Given the description of an element on the screen output the (x, y) to click on. 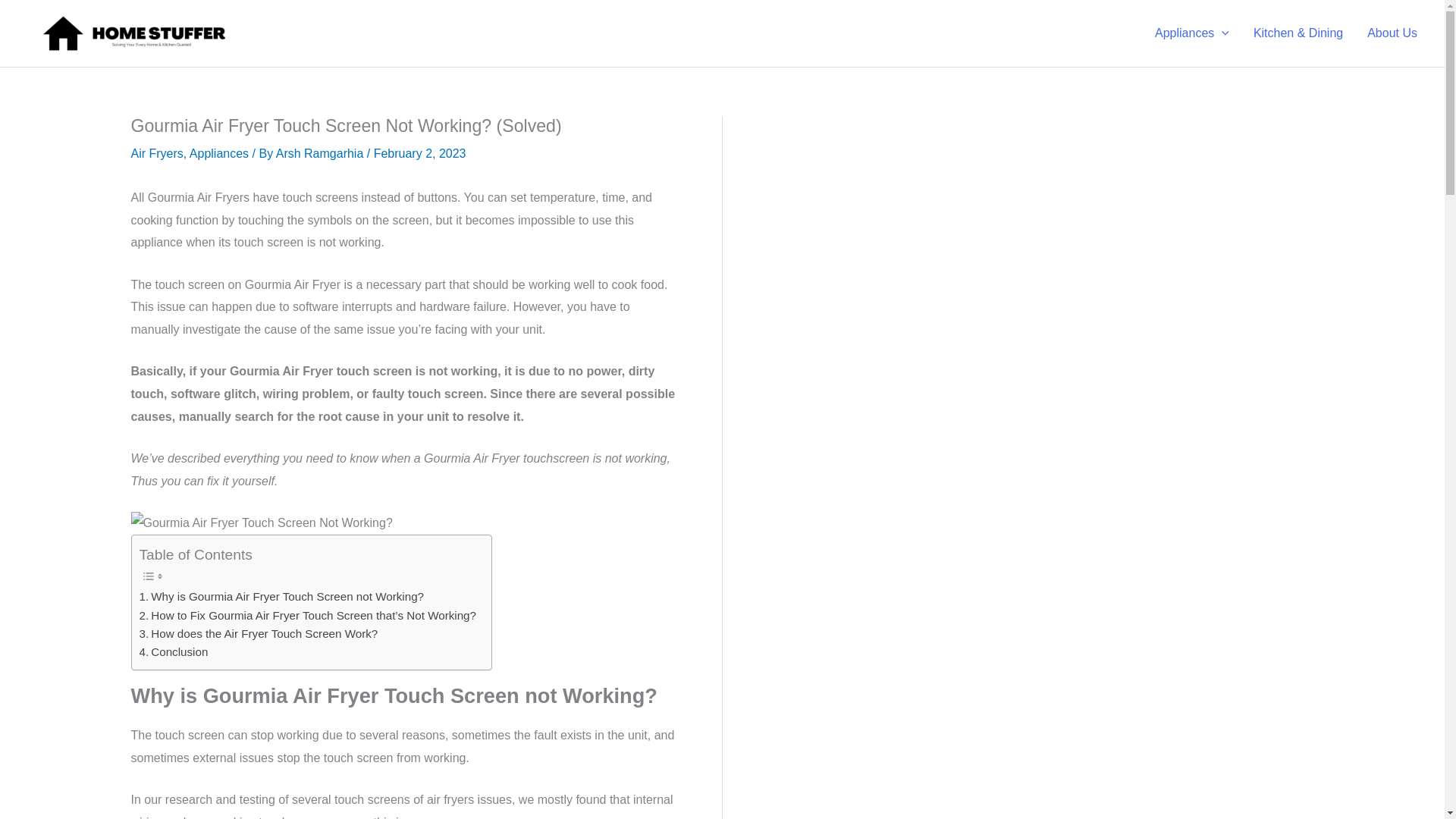
Conclusion (173, 651)
How does the Air Fryer Touch Screen Work? (258, 633)
About Us (1392, 32)
Air Fryers (157, 153)
Appliances (218, 153)
Arsh Ramgarhia (320, 153)
View all posts by Arsh Ramgarhia (320, 153)
Gourmia Air Fryer Touch Screen Not Working? (261, 522)
Why is Gourmia Air Fryer Touch Screen not Working? (282, 597)
Appliances (1191, 32)
How does the Air Fryer Touch Screen Work? (258, 633)
Why is Gourmia Air Fryer Touch Screen not Working? (282, 597)
Conclusion (173, 651)
